Given the description of an element on the screen output the (x, y) to click on. 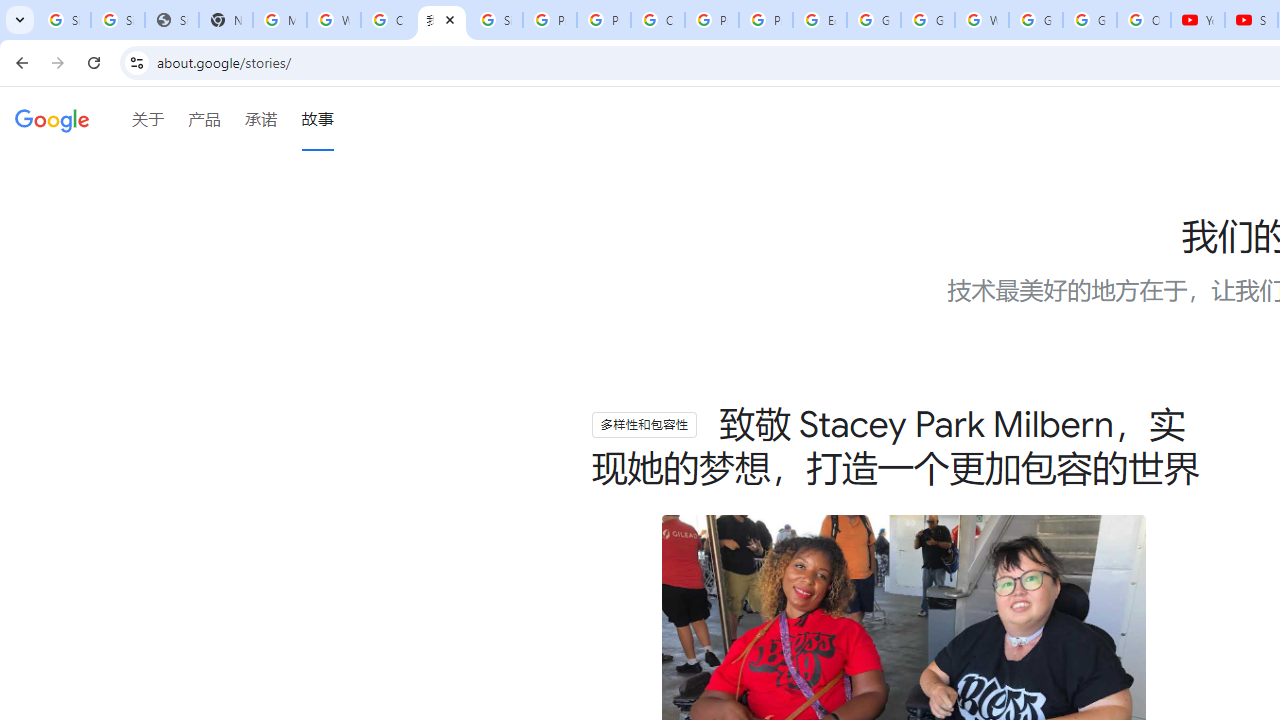
Sign in - Google Accounts (63, 20)
Google Slides: Sign-in (874, 20)
Edit and view right-to-left text - Google Docs Editors Help (819, 20)
YouTube (1197, 20)
Sign in - Google Accounts (495, 20)
Google (52, 121)
Who is my administrator? - Google Account Help (333, 20)
Sign in - Google Accounts (117, 20)
